Given the description of an element on the screen output the (x, y) to click on. 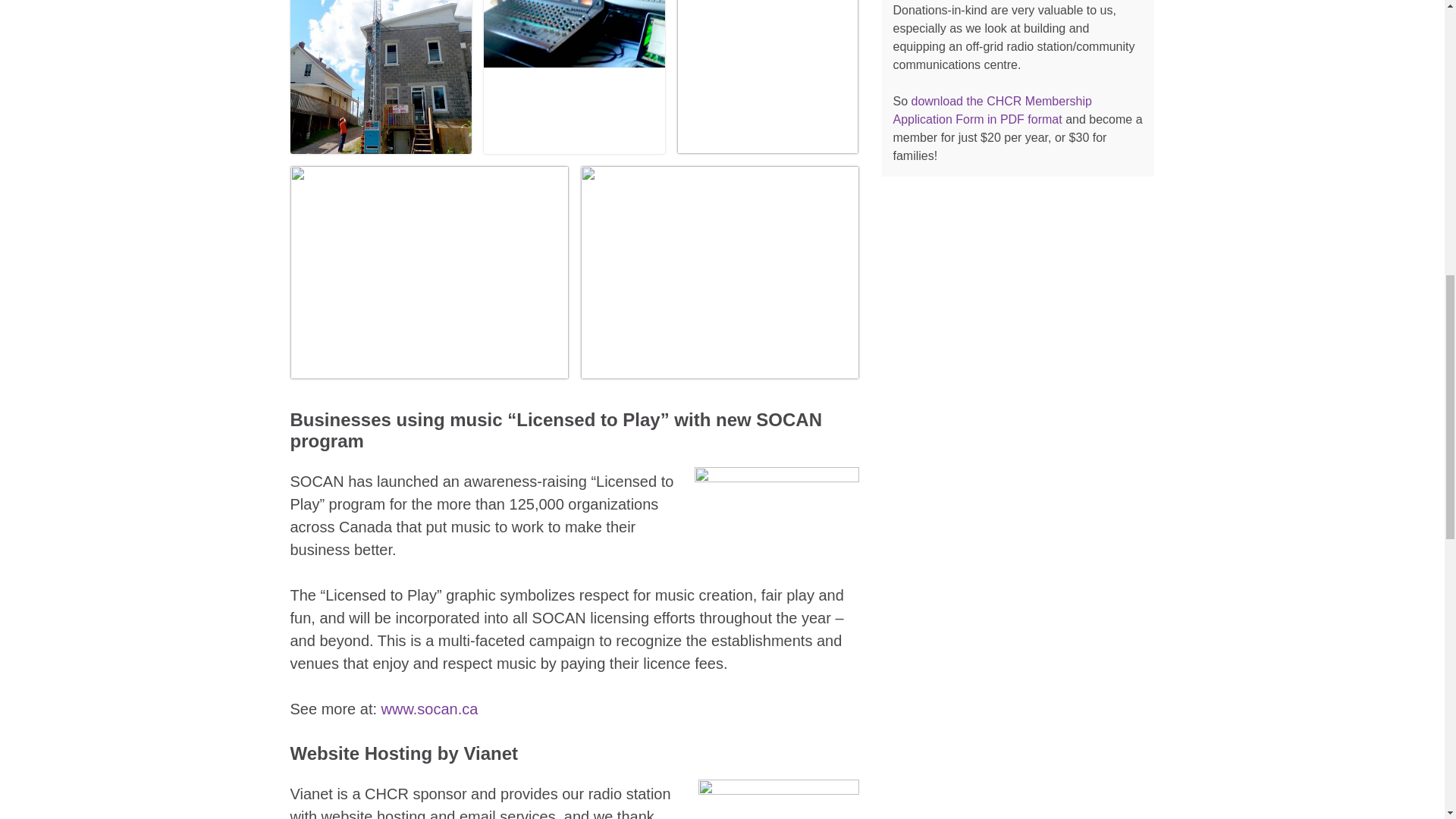
download the CHCR Membership Application Form in PDF format (992, 110)
www.socan.ca (430, 709)
